Given the description of an element on the screen output the (x, y) to click on. 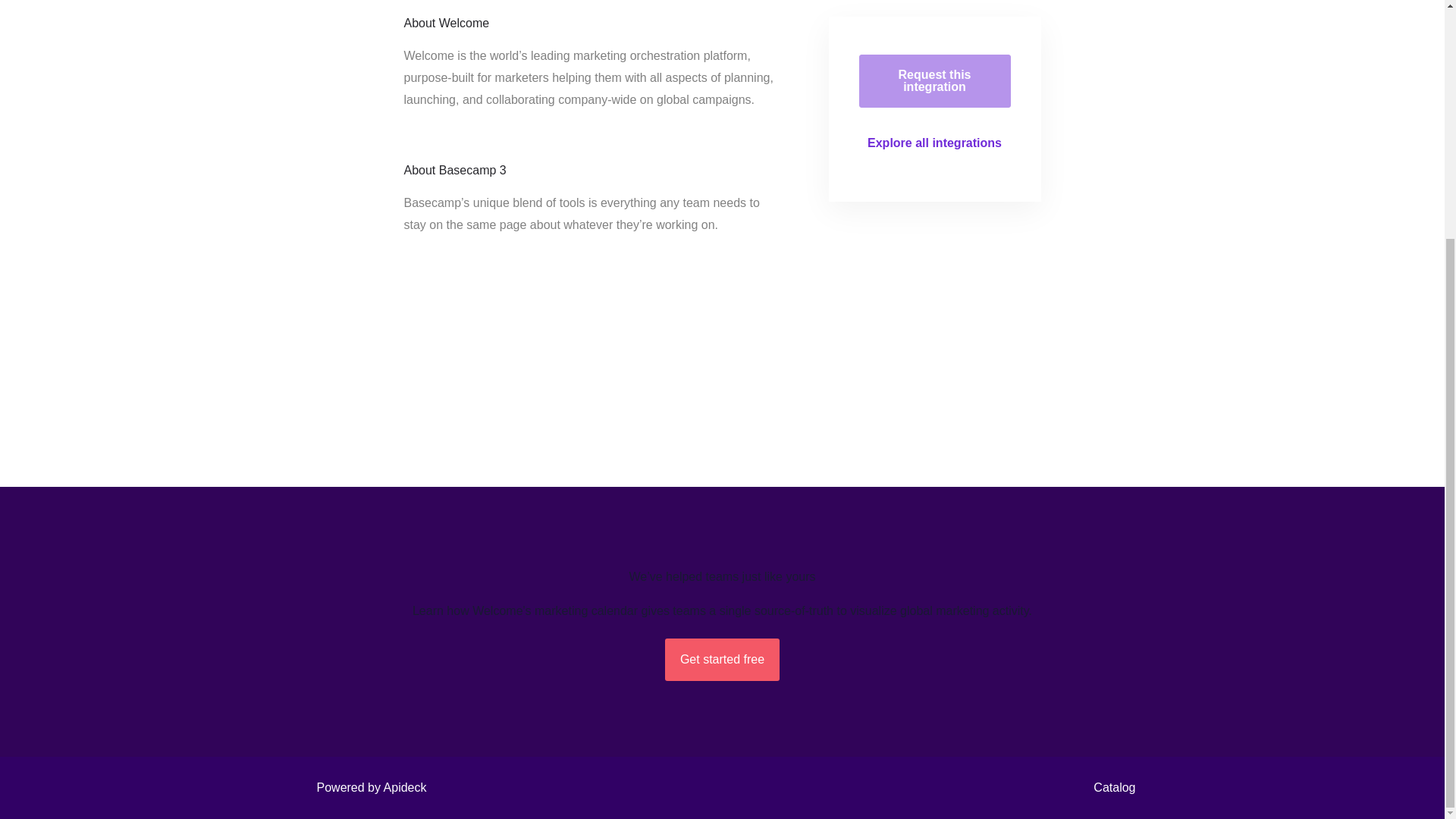
Catalog (1109, 787)
Powered by Apideck (366, 787)
Request this integration (934, 80)
Explore all integrations (934, 142)
Get started free (721, 659)
